Given the description of an element on the screen output the (x, y) to click on. 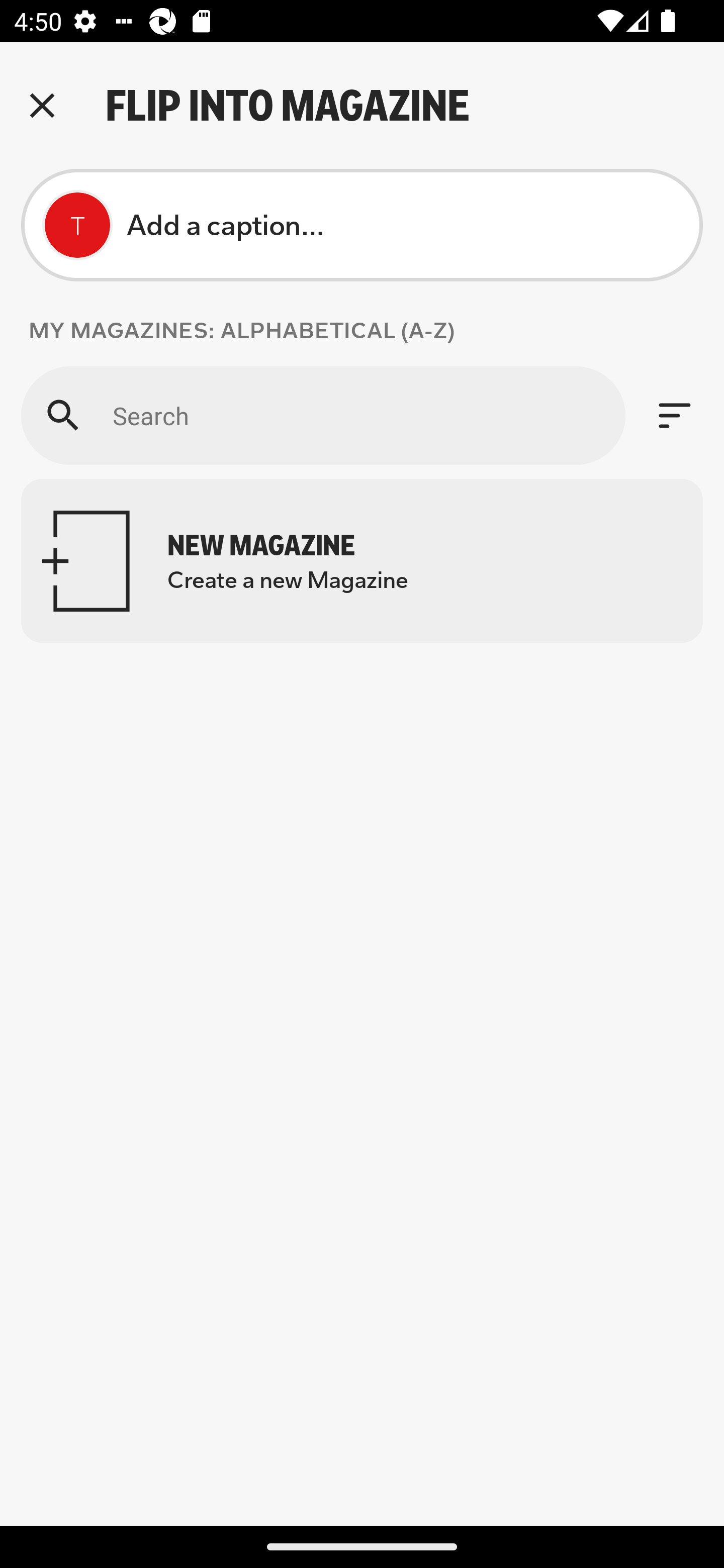
Test Appium Add a caption… (361, 224)
Search (322, 415)
NEW MAGAZINE Create a new Magazine (361, 560)
